Given the description of an element on the screen output the (x, y) to click on. 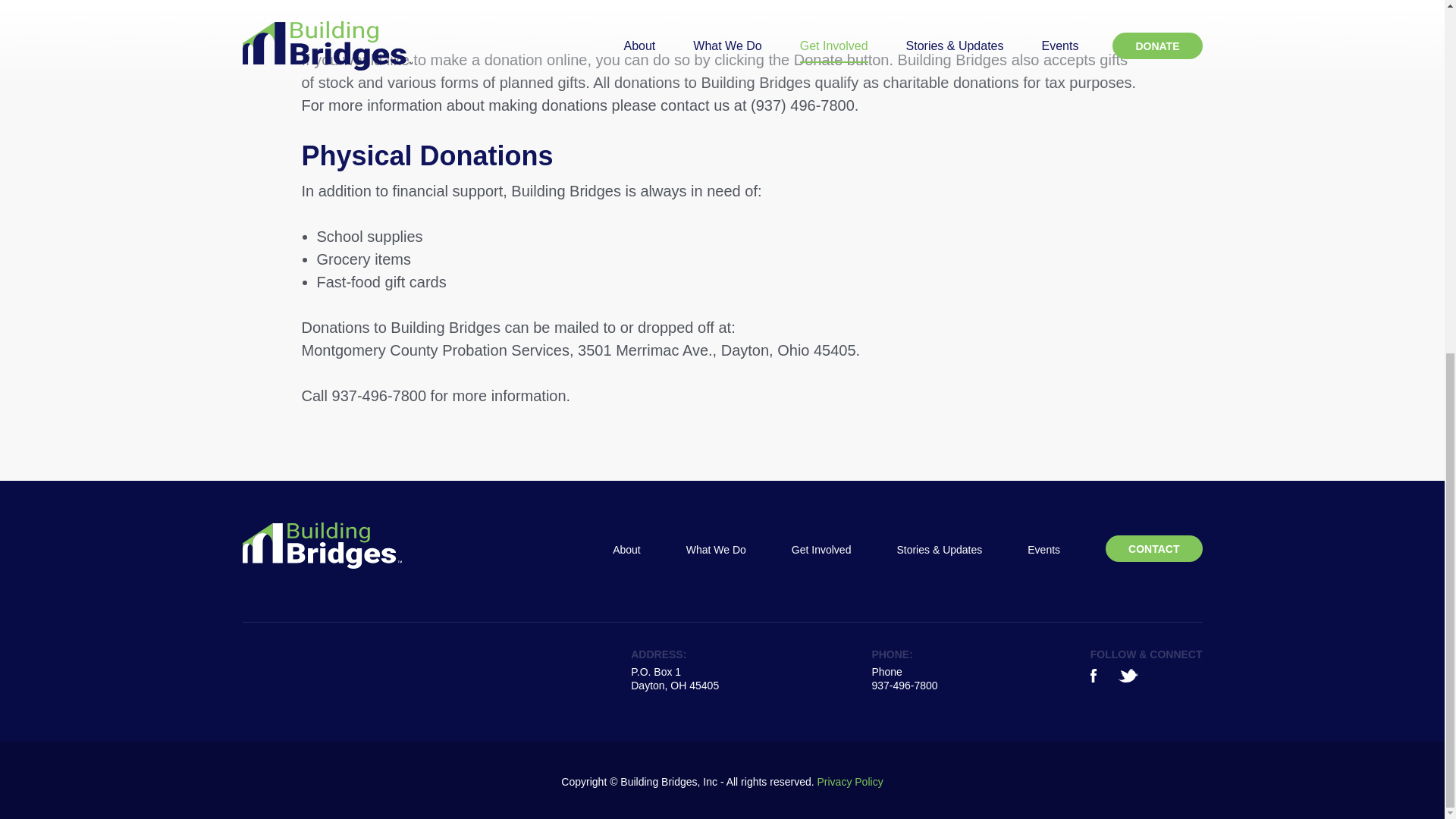
937-496-7800 (903, 685)
Privacy Policy (849, 781)
What We Do (715, 549)
CONTACT (1153, 548)
Events (1043, 549)
Get Involved (821, 549)
About (626, 549)
